Given the description of an element on the screen output the (x, y) to click on. 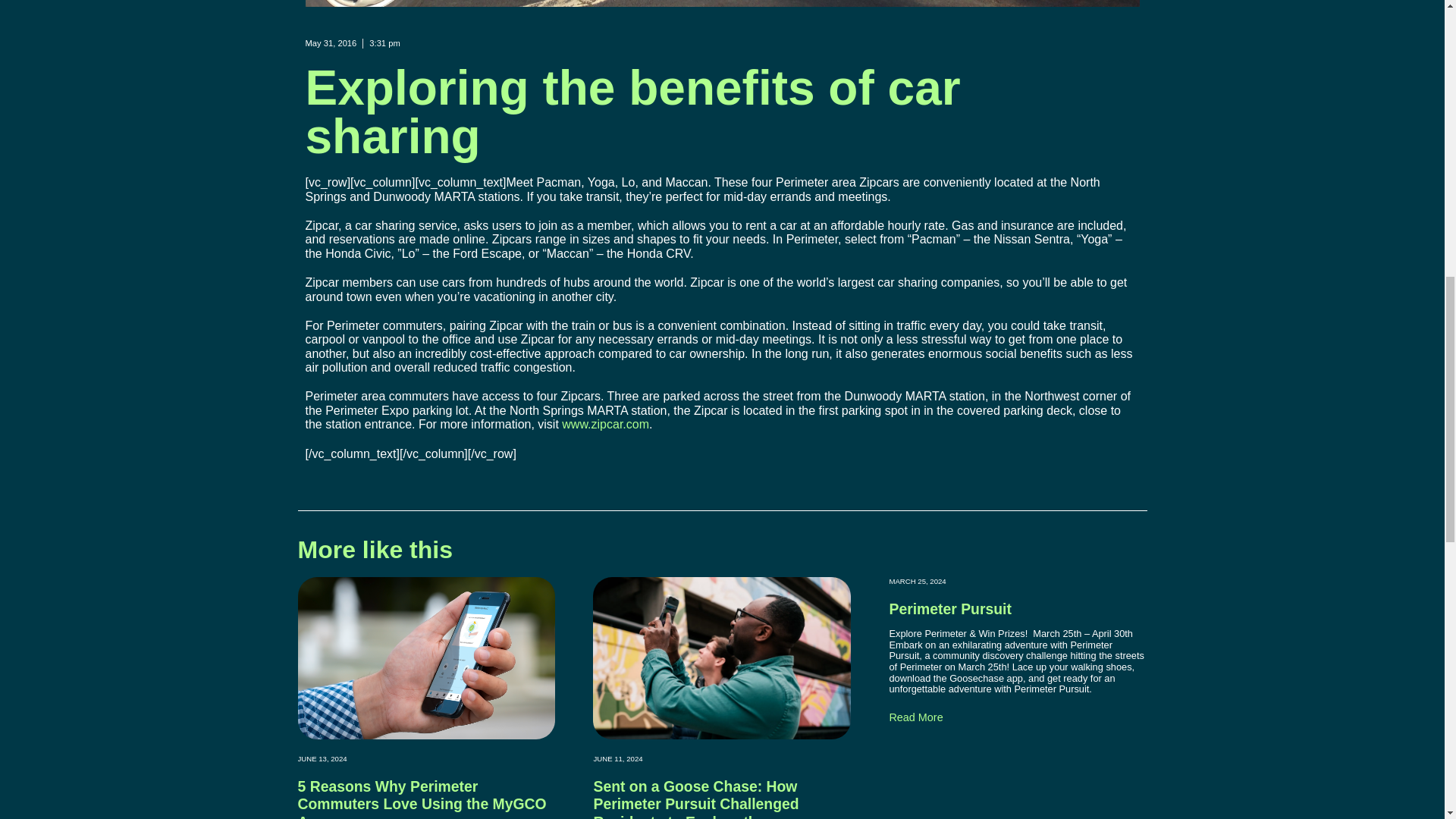
May 31, 2016 (330, 43)
Perimeter Pursuit (949, 608)
5 Reasons Why Perimeter Commuters Love Using the MyGCO App  (421, 798)
MARCH 25, 2024 (916, 581)
www.zipcar.com (605, 423)
JUNE 13, 2024 (321, 758)
JUNE 11, 2024 (617, 758)
Read More (915, 717)
